Given the description of an element on the screen output the (x, y) to click on. 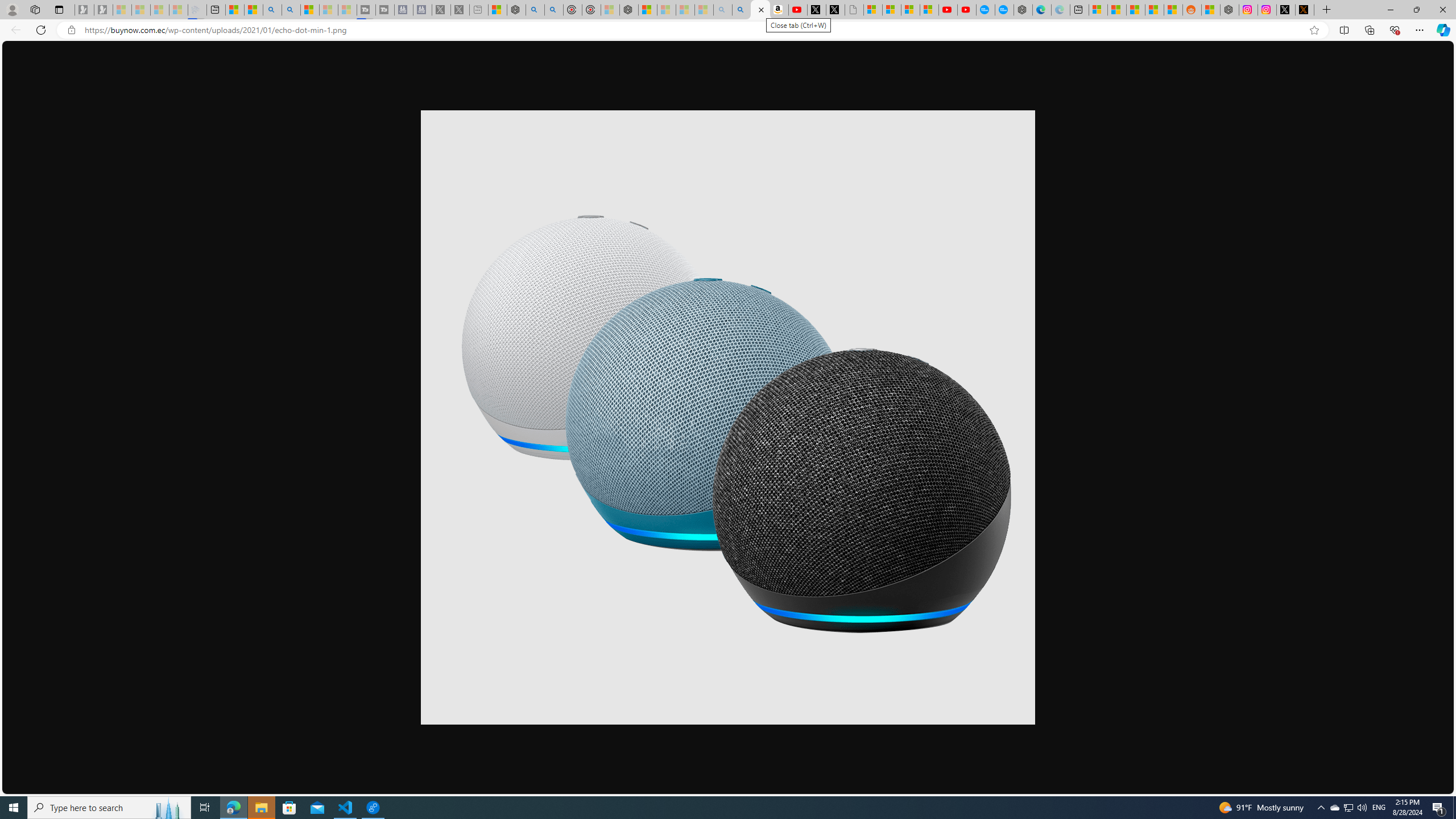
Wildlife - MSN (497, 9)
Shanghai, China weather forecast | Microsoft Weather (1116, 9)
The most popular Google 'how to' searches (1004, 9)
